Given the description of an element on the screen output the (x, y) to click on. 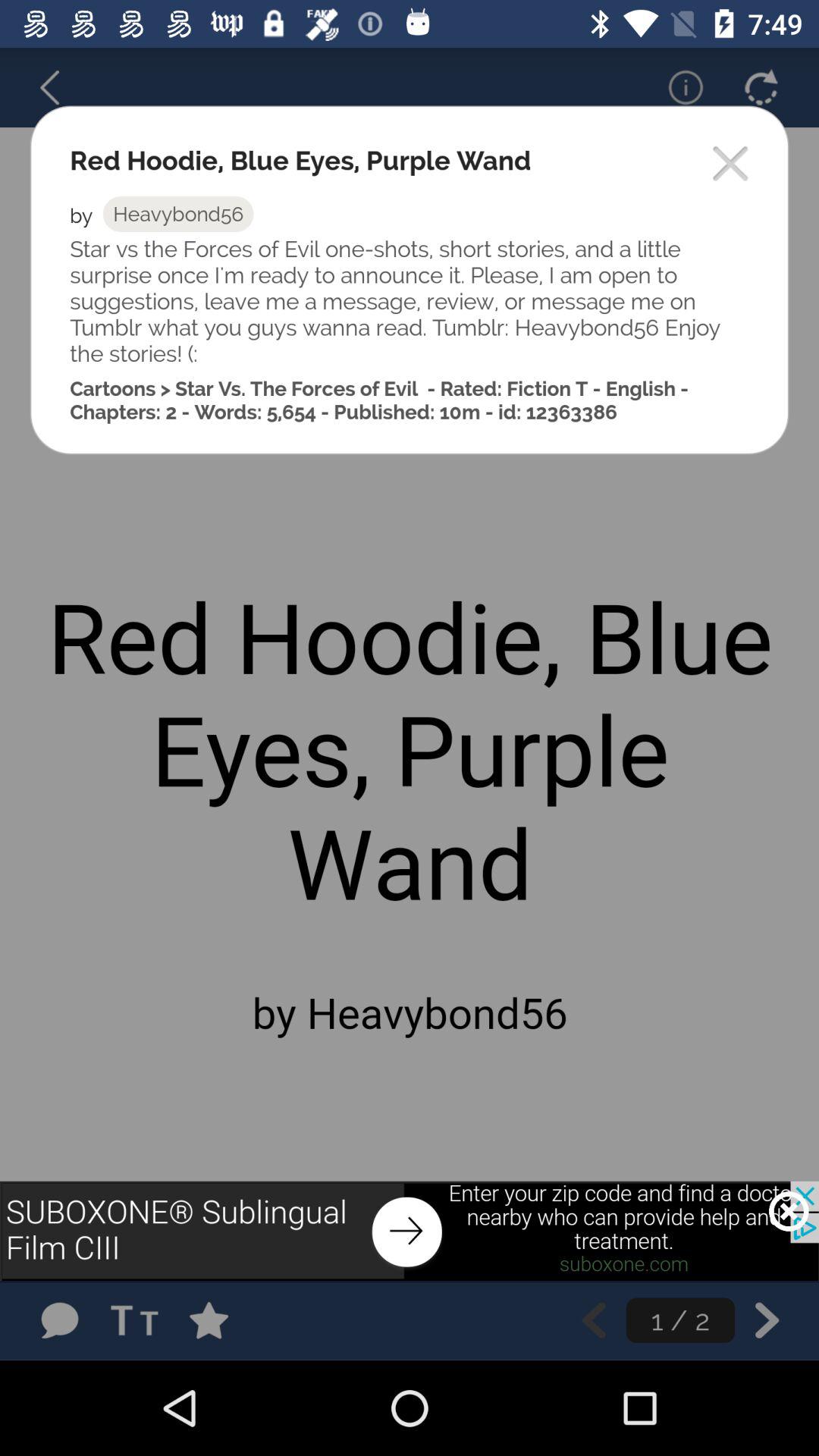
refresh (761, 87)
